Given the description of an element on the screen output the (x, y) to click on. 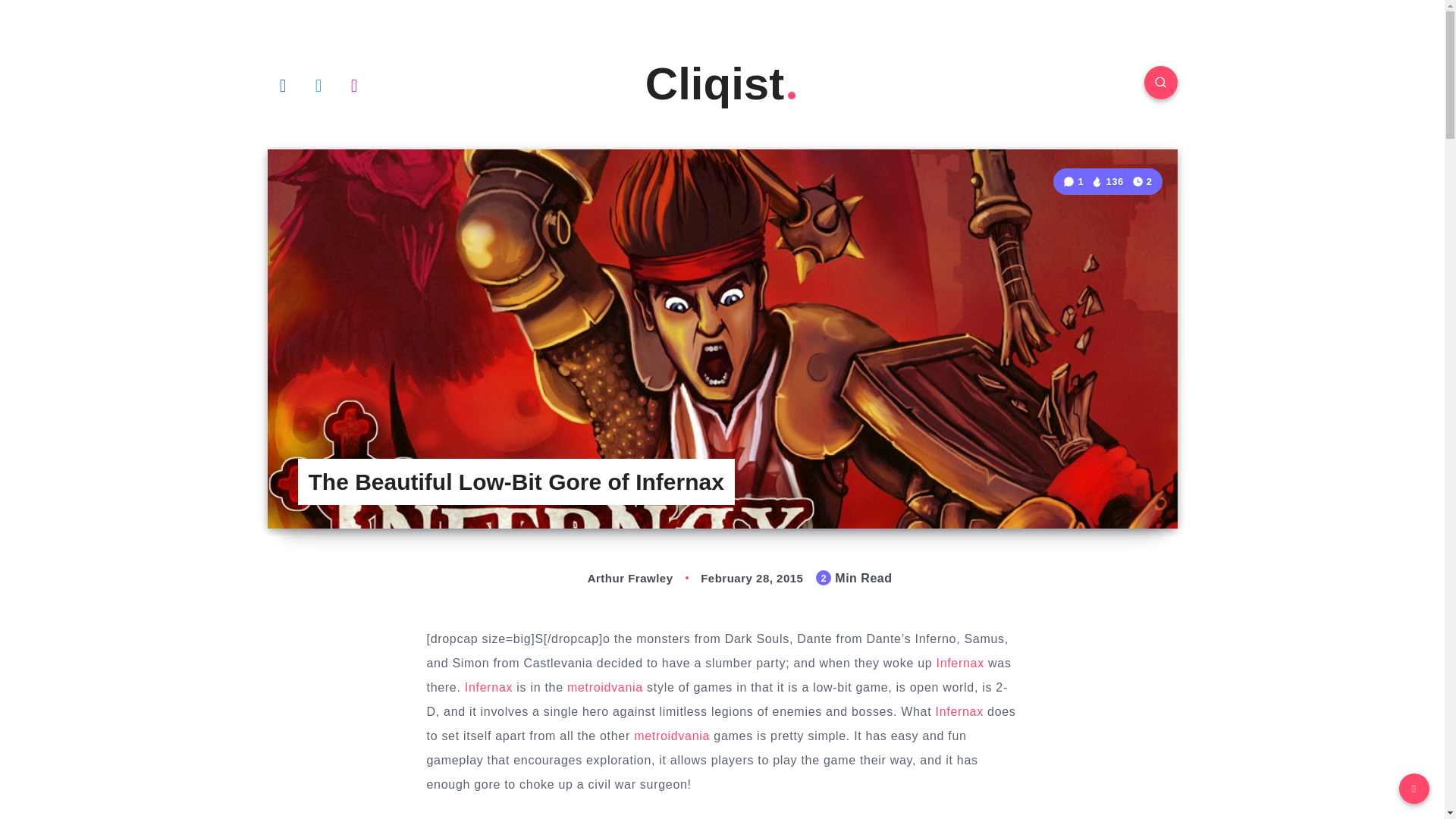
1 Comment (1074, 181)
Infernax (960, 711)
metroidvania (671, 735)
Author: Arthur Frawley (615, 577)
Arthur Frawley (615, 577)
Cliqist (722, 83)
Infernax (960, 662)
136 Views (1106, 181)
2 Min Read (1142, 181)
Infernax (488, 686)
metroidvania (605, 686)
1 (1074, 181)
